Given the description of an element on the screen output the (x, y) to click on. 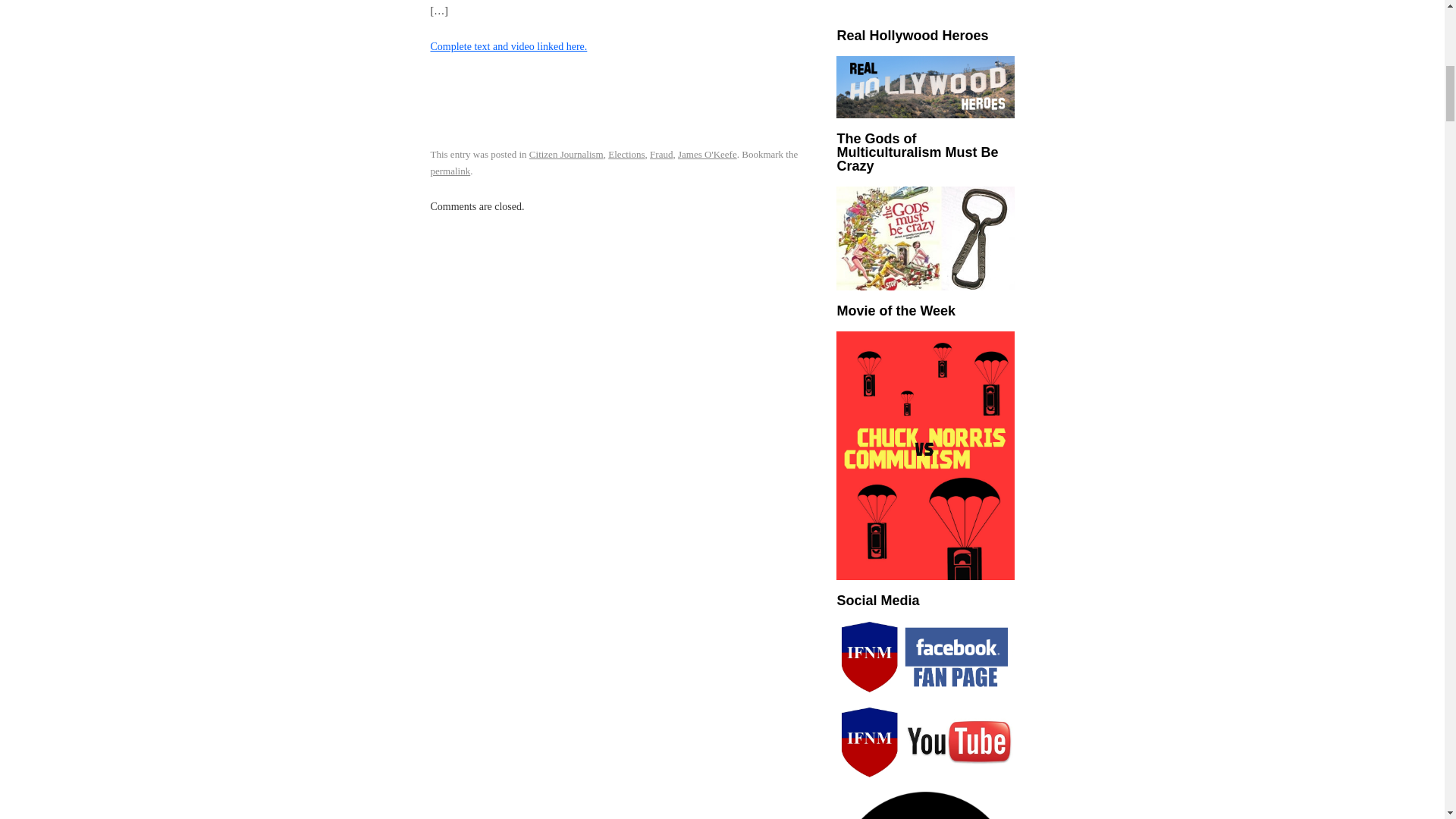
Complete text and video linked here. (509, 46)
James O'Keefe (707, 153)
Citizen Journalism (566, 153)
permalink (450, 170)
Fraud (660, 153)
Elections (626, 153)
